Given the description of an element on the screen output the (x, y) to click on. 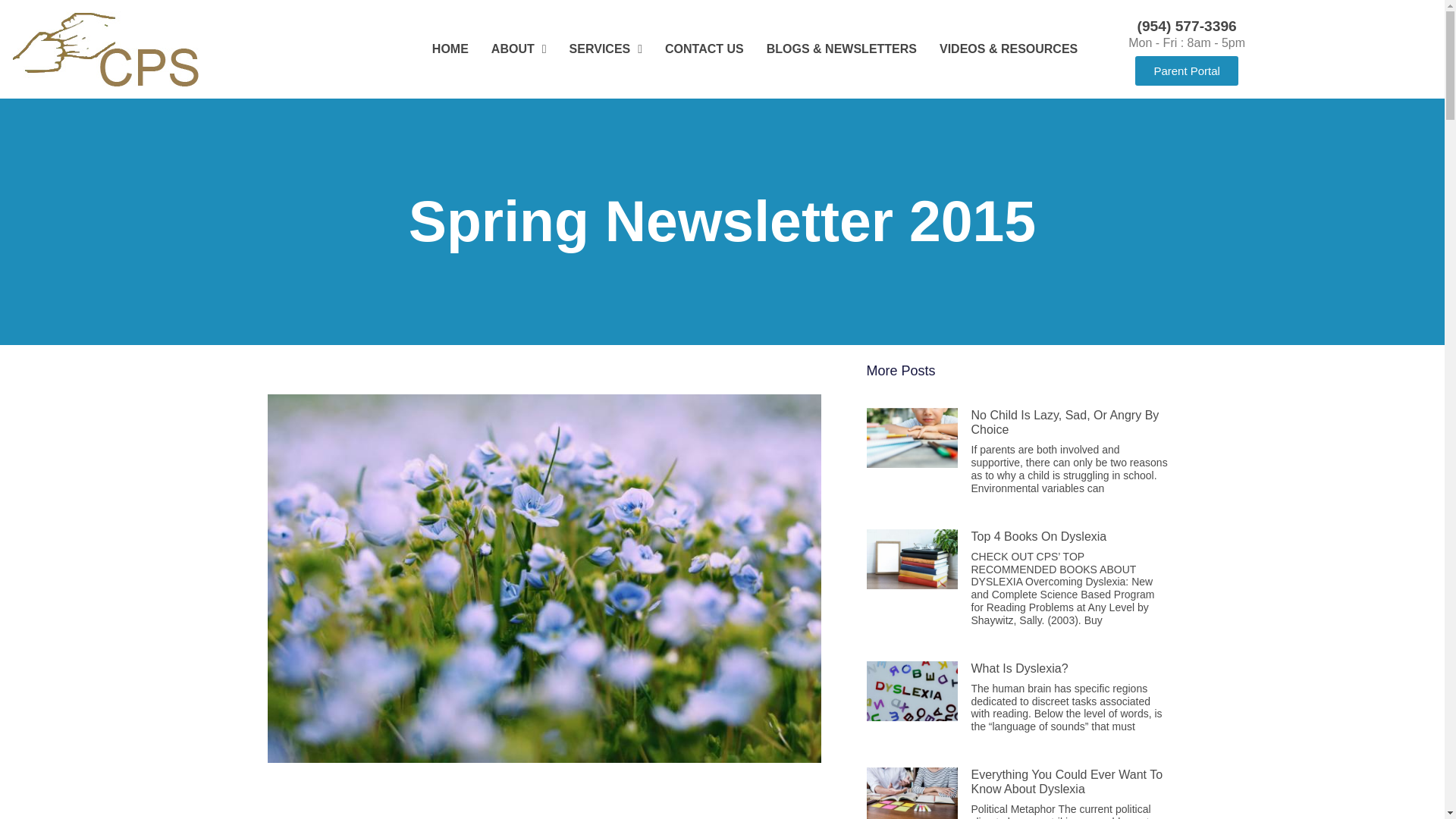
CONTACT US (704, 49)
What Is Dyslexia? (1019, 667)
Everything You Could Ever Want To Know About Dyslexia (1066, 781)
SERVICES (605, 49)
No Child Is Lazy, Sad, Or Angry By Choice (1064, 421)
Top 4 Books On Dyslexia (1038, 535)
HOME (450, 49)
Parent Portal (1187, 70)
ABOUT (519, 49)
